Given the description of an element on the screen output the (x, y) to click on. 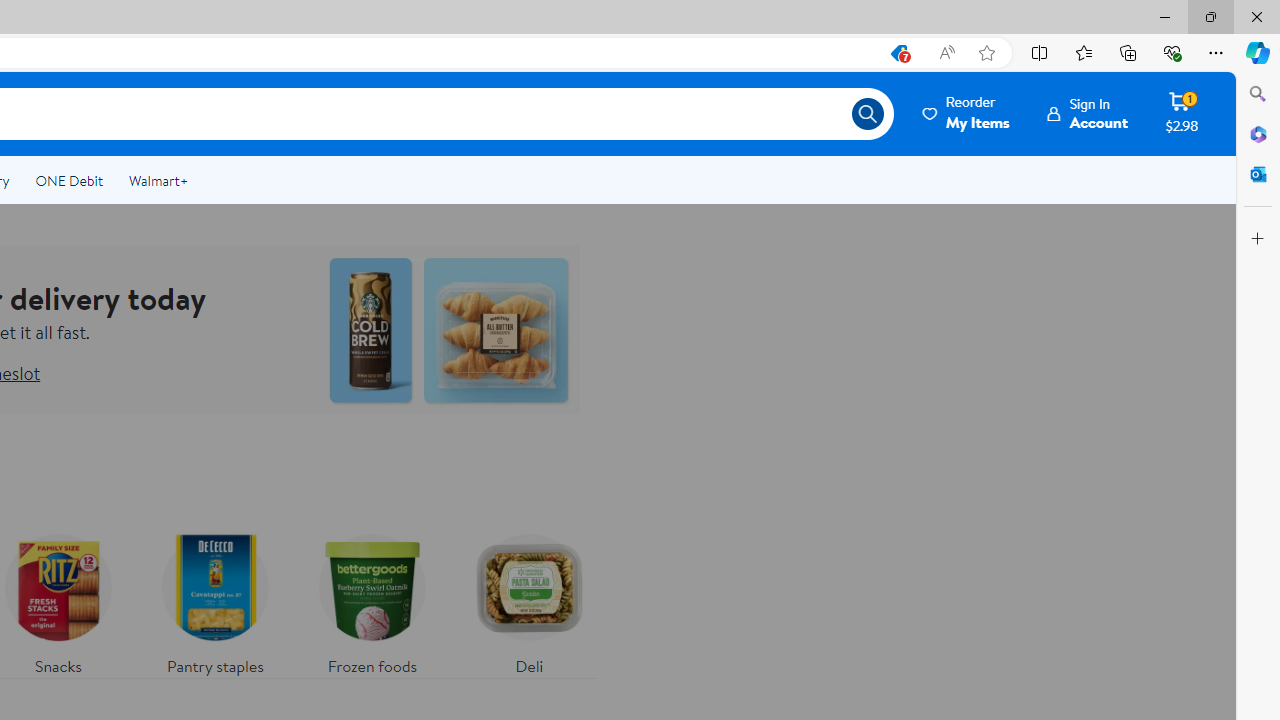
ONE Debit (68, 180)
Walmart+ (158, 180)
Deli (529, 599)
